Given the description of an element on the screen output the (x, y) to click on. 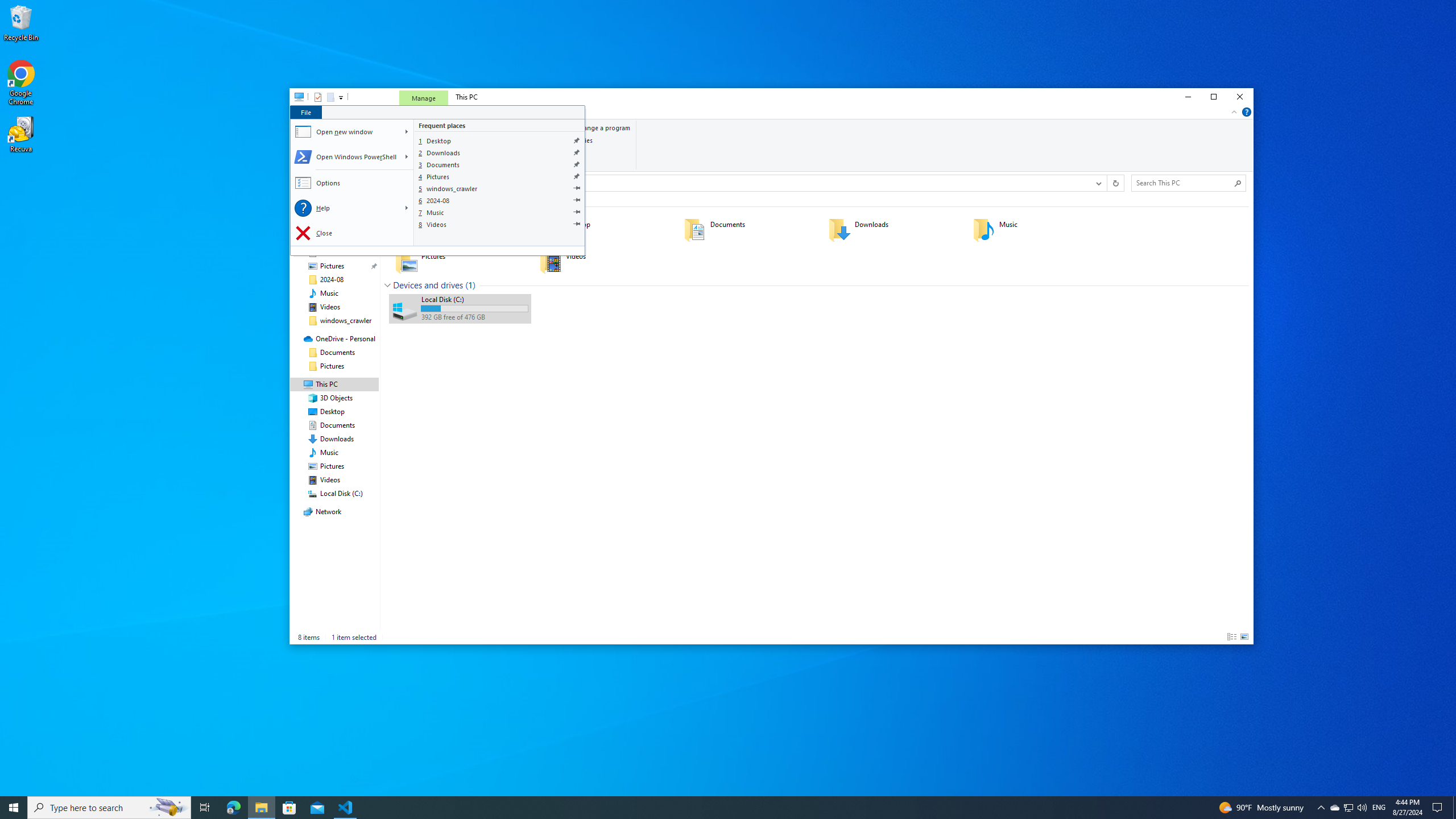
File Explorer - 1 running window (261, 807)
Class: NetUIHWND (437, 179)
windows_crawler (499, 188)
Help (345, 207)
S (406, 156)
Pictures (499, 176)
Documents (499, 164)
Open new window (345, 131)
